Given the description of an element on the screen output the (x, y) to click on. 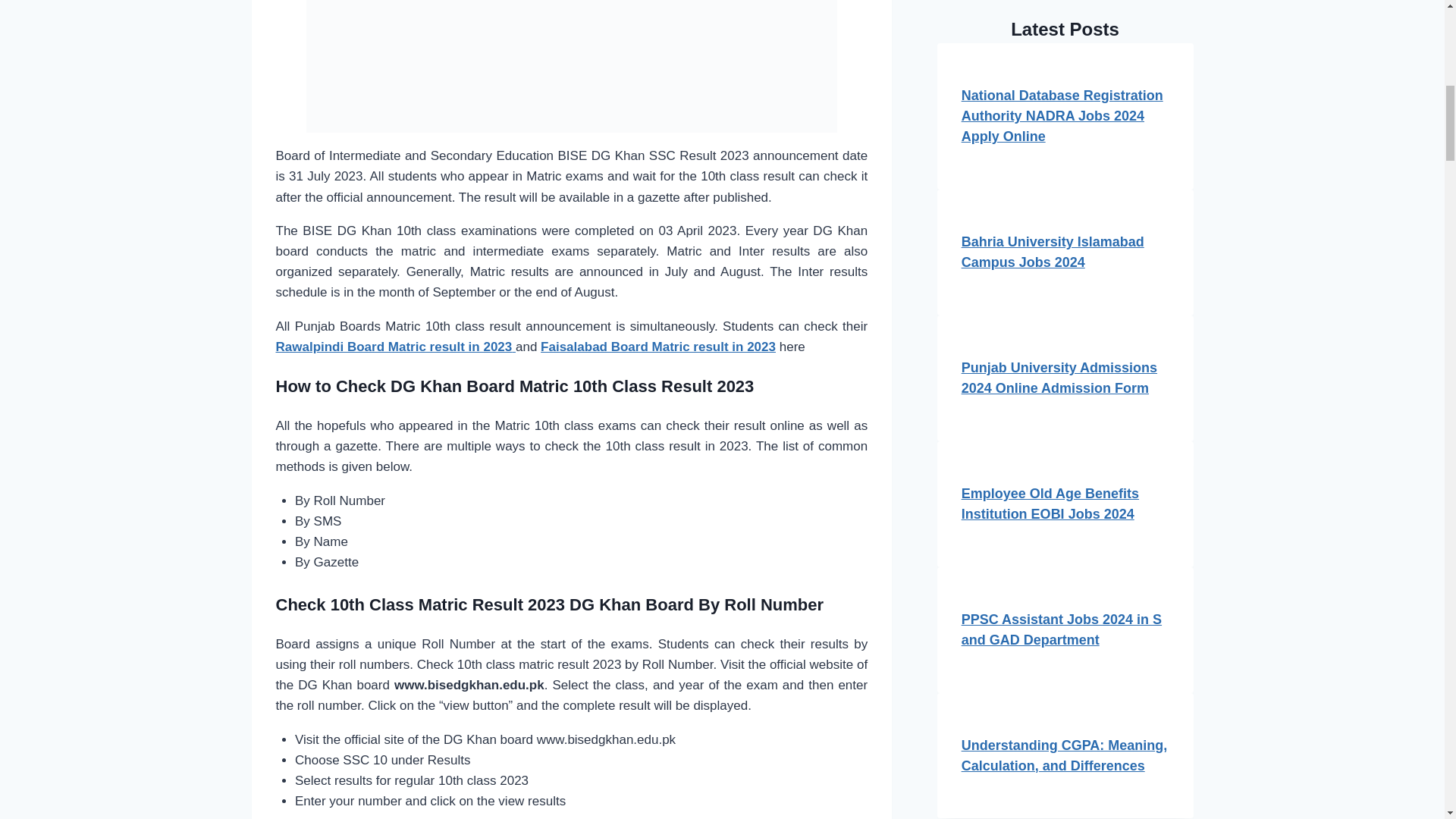
Rawalpindi Board Matric result in 2023 (396, 346)
Faisalabad Board Matric result in 2023 (658, 346)
